Given the description of an element on the screen output the (x, y) to click on. 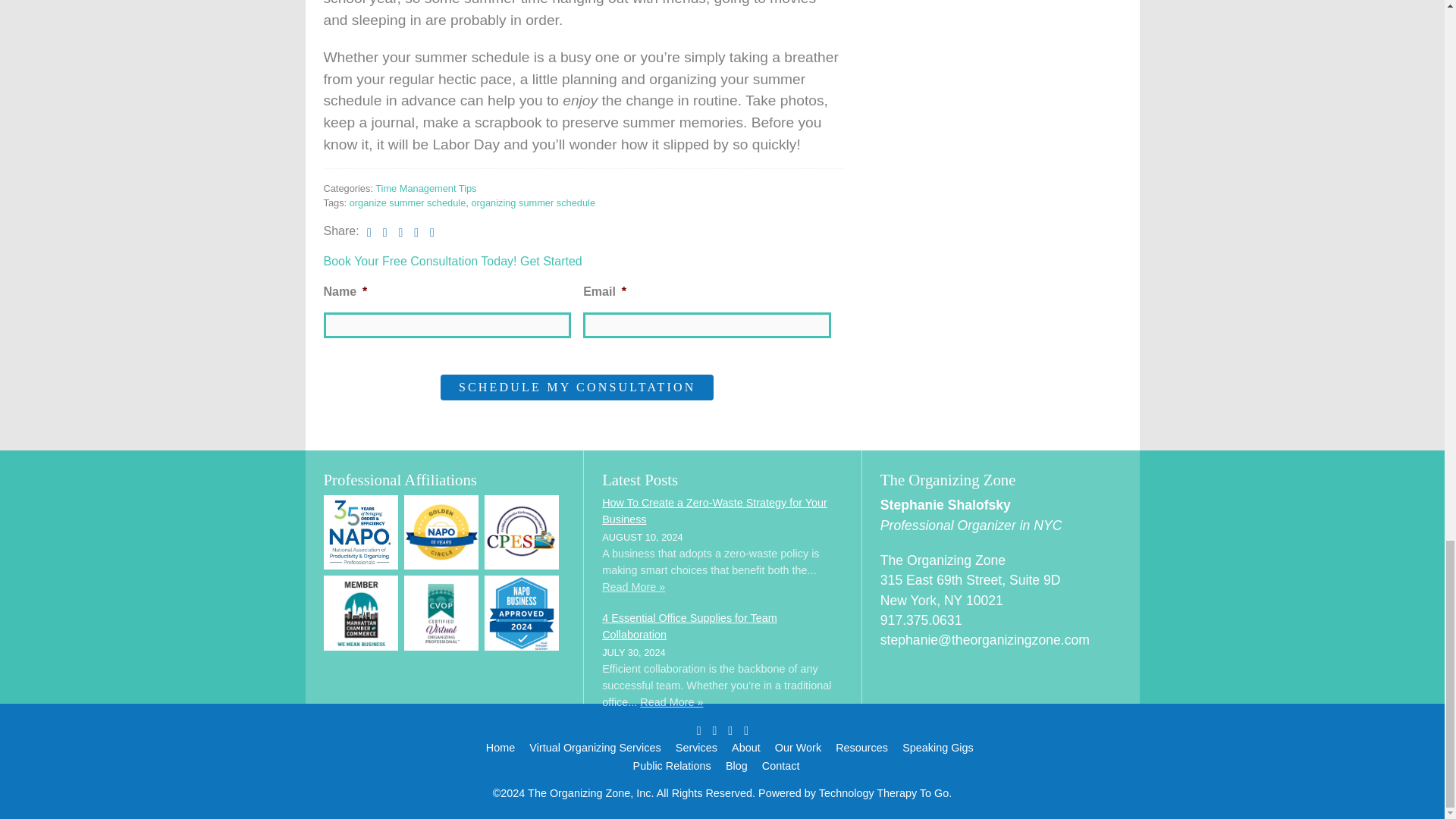
National Association of Professional Organizers Logo (360, 532)
facebook (373, 230)
NAPO Business Approved Logo (521, 612)
organize summer schedule (407, 202)
Institute for Challenging Disorganization Logo (441, 612)
NAPO Golden Circle 15 Years  (441, 532)
Productive Environment Institute Logo (521, 532)
twitter (388, 230)
googleplus (404, 230)
organizing summer schedule (532, 202)
